Given the description of an element on the screen output the (x, y) to click on. 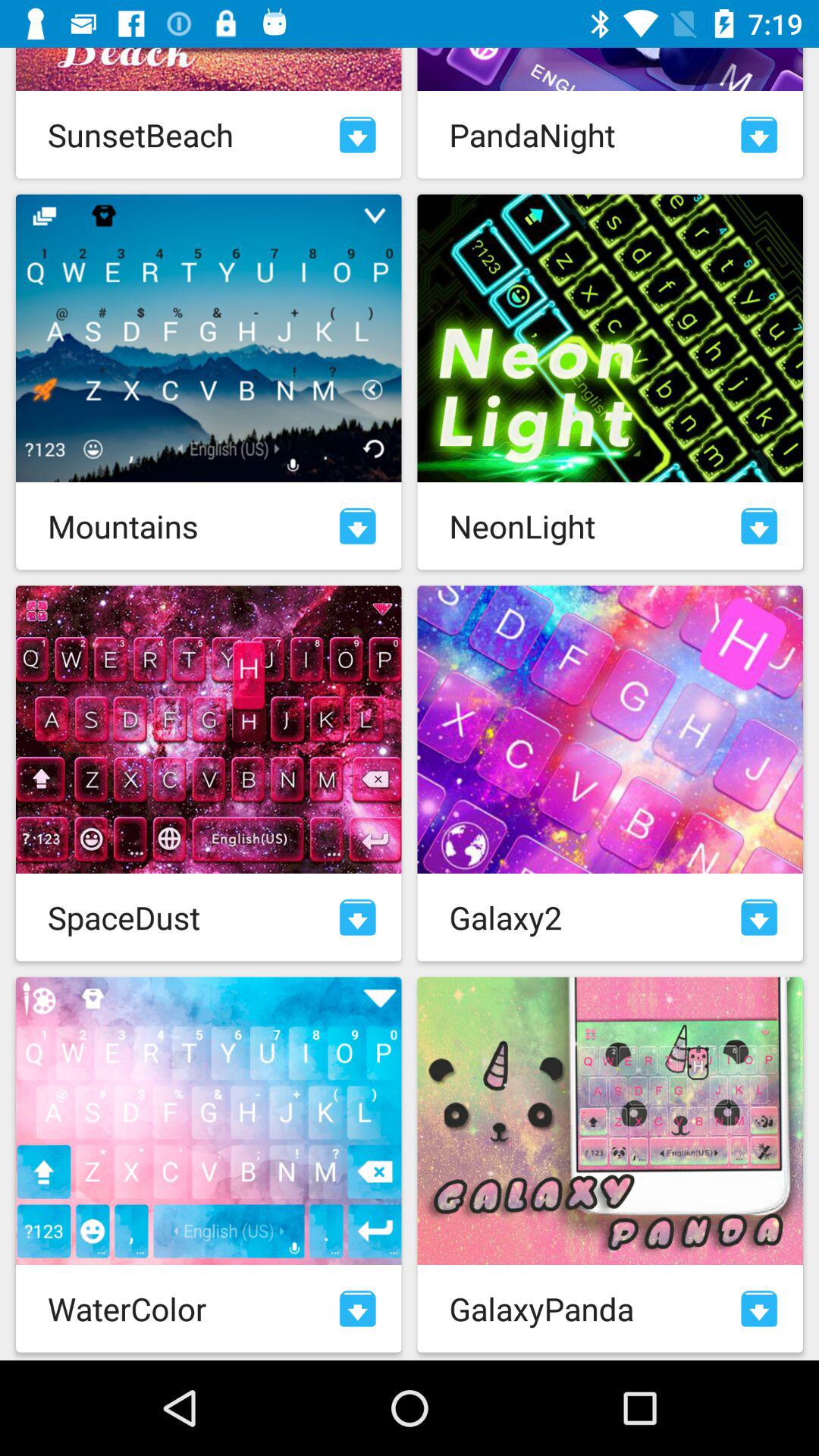
download theme (357, 1308)
